Given the description of an element on the screen output the (x, y) to click on. 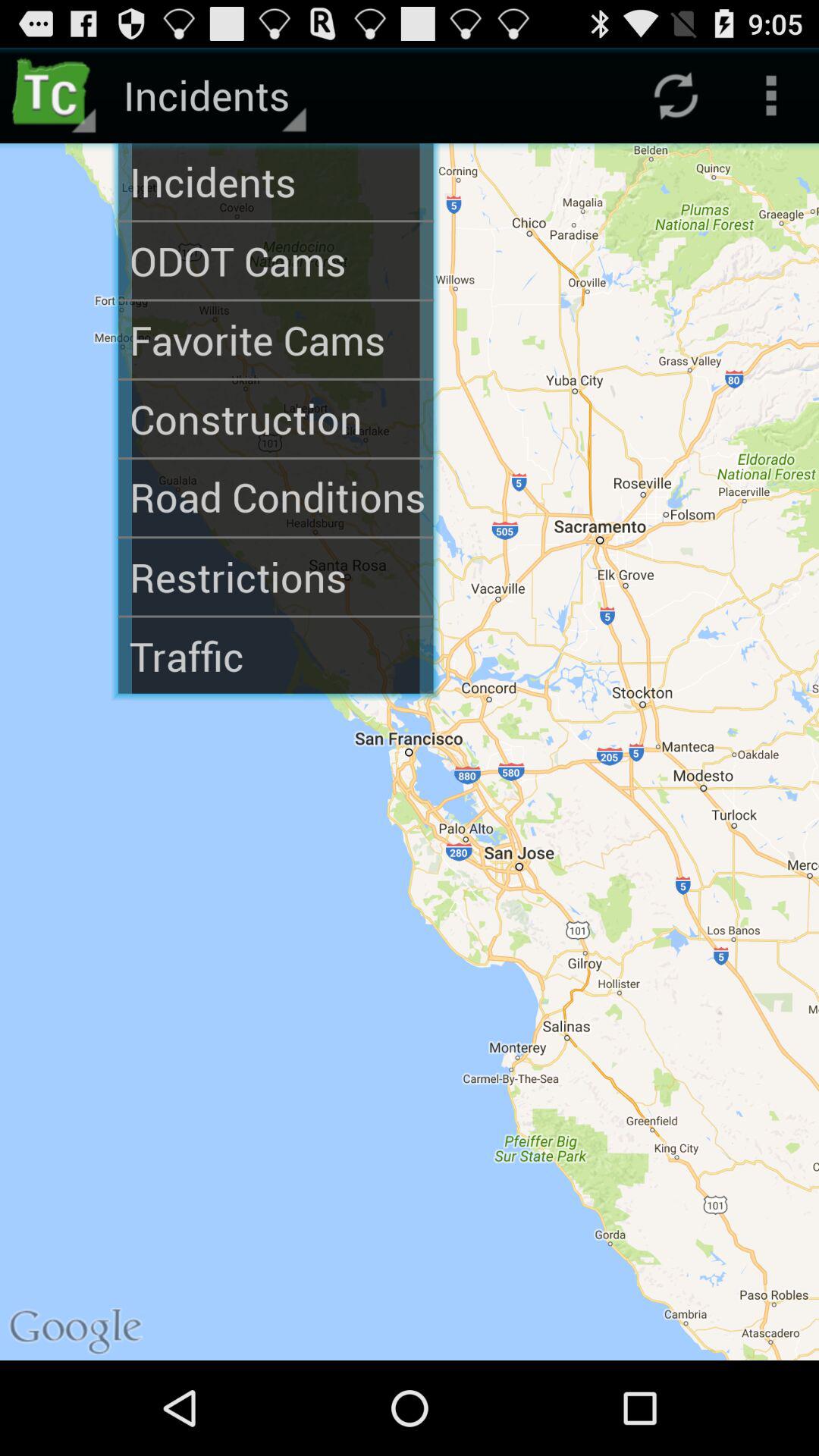
press item next to incidents app (55, 95)
